Given the description of an element on the screen output the (x, y) to click on. 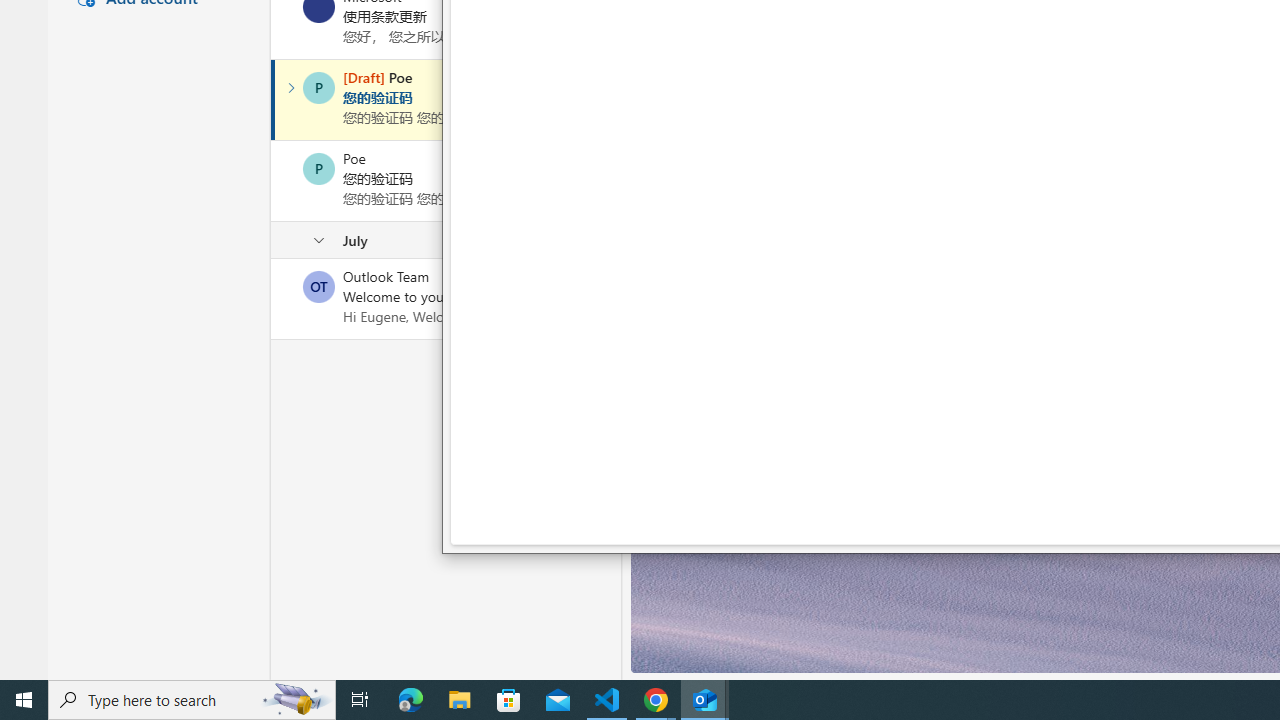
Microsoft Store (509, 699)
Task View (359, 699)
File Explorer (460, 699)
Outlook (new) - 2 running windows (704, 699)
Visual Studio Code - 1 running window (607, 699)
Microsoft Edge (411, 699)
Outlook Team (319, 286)
Mark as unread (273, 299)
Type here to search (191, 699)
Select a conversation (319, 286)
Search highlights icon opens search home window (295, 699)
Expand conversation (291, 88)
Poe (319, 168)
Start (24, 699)
